Given the description of an element on the screen output the (x, y) to click on. 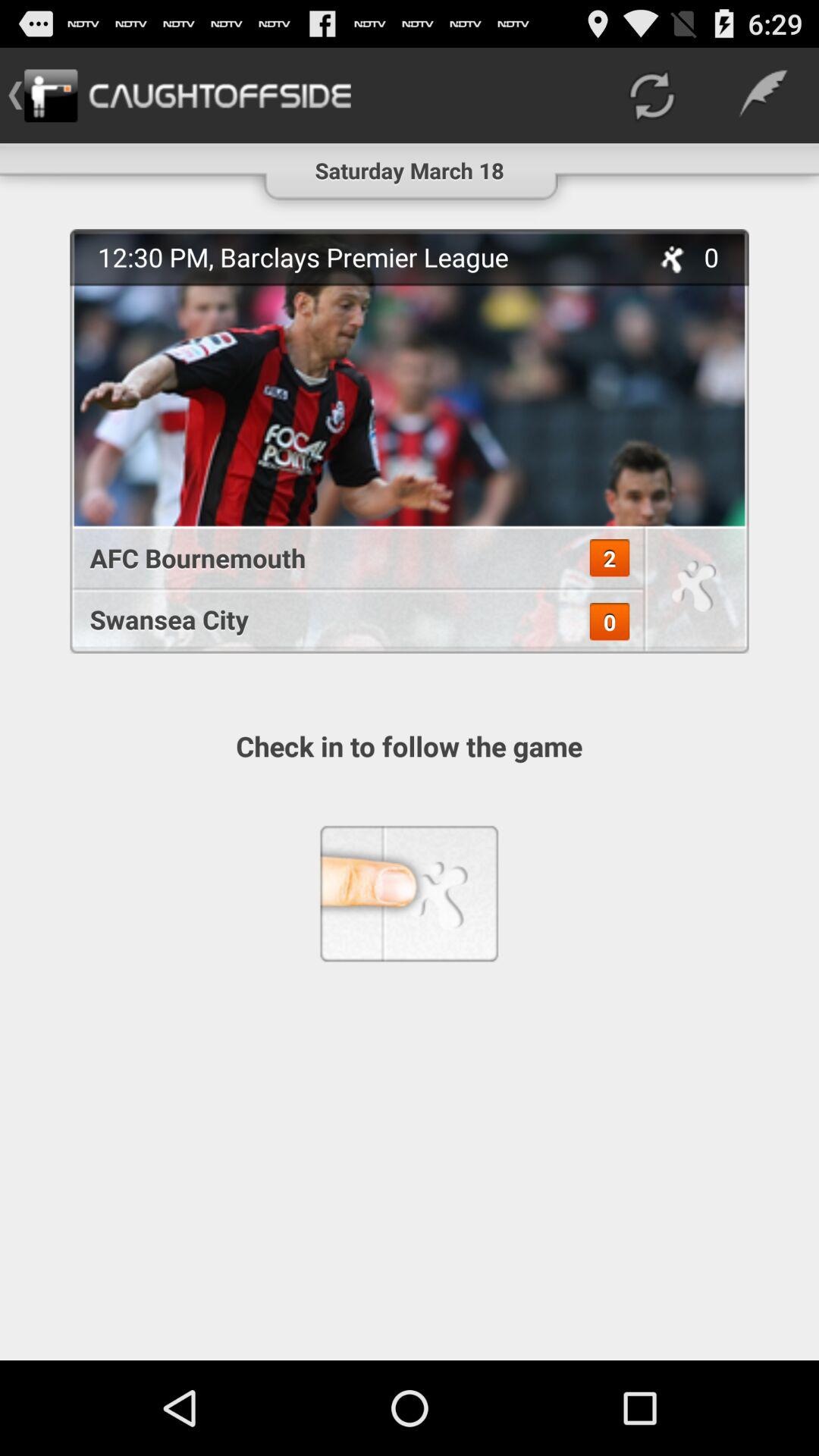
press afc bournemouth item (348, 557)
